Given the description of an element on the screen output the (x, y) to click on. 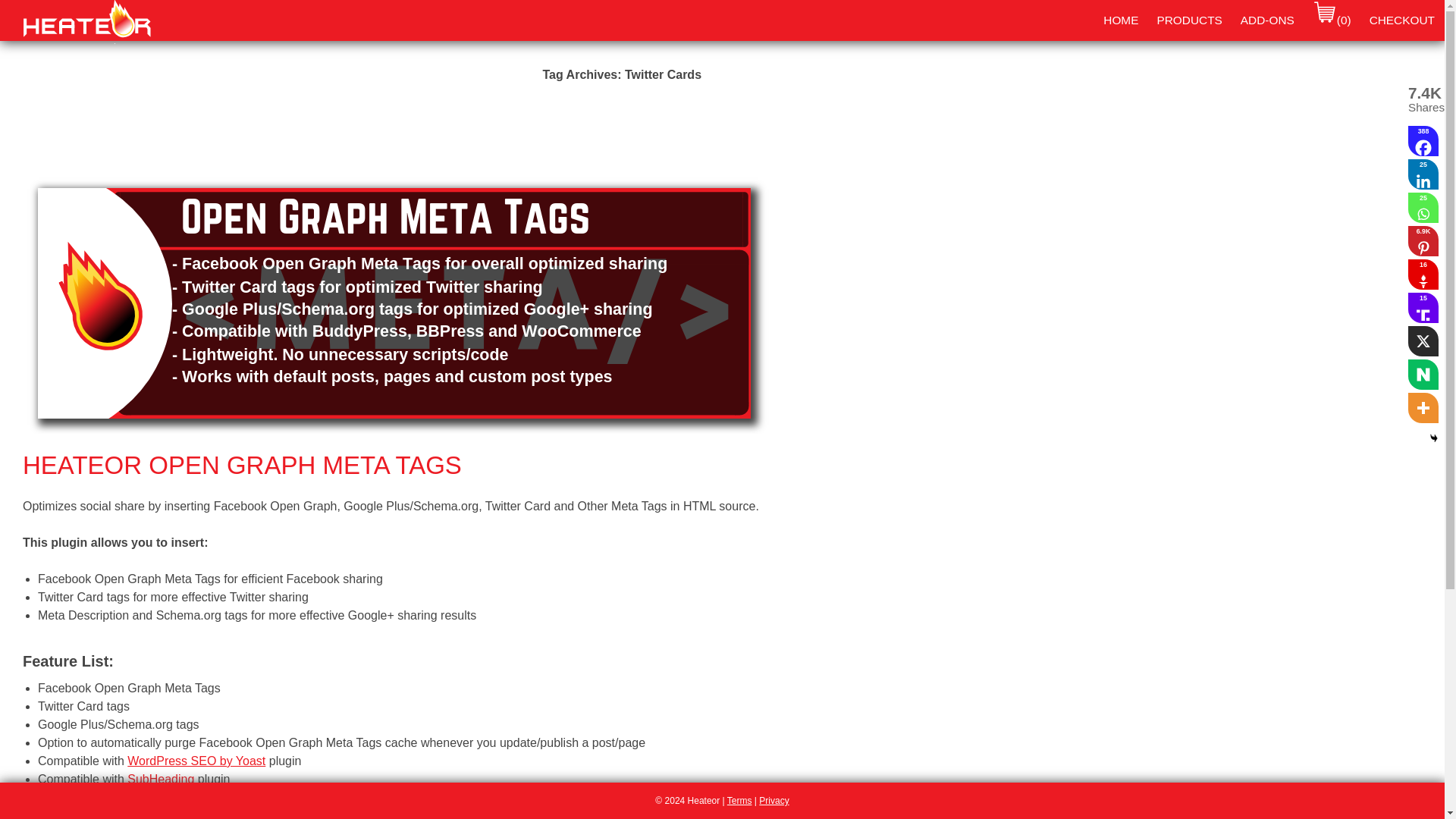
Gettr (1422, 274)
25 (1422, 207)
Whatsapp (1422, 207)
Linkedin (1422, 173)
Add-ons (1267, 20)
388 (1422, 141)
Cart (1331, 20)
ADD-ONS (1267, 20)
Total Shares (1422, 100)
25 (1422, 173)
Naver (1422, 374)
Privacy (773, 800)
More (1422, 408)
16 (1422, 274)
Business Directory Plugin (196, 797)
